Given the description of an element on the screen output the (x, y) to click on. 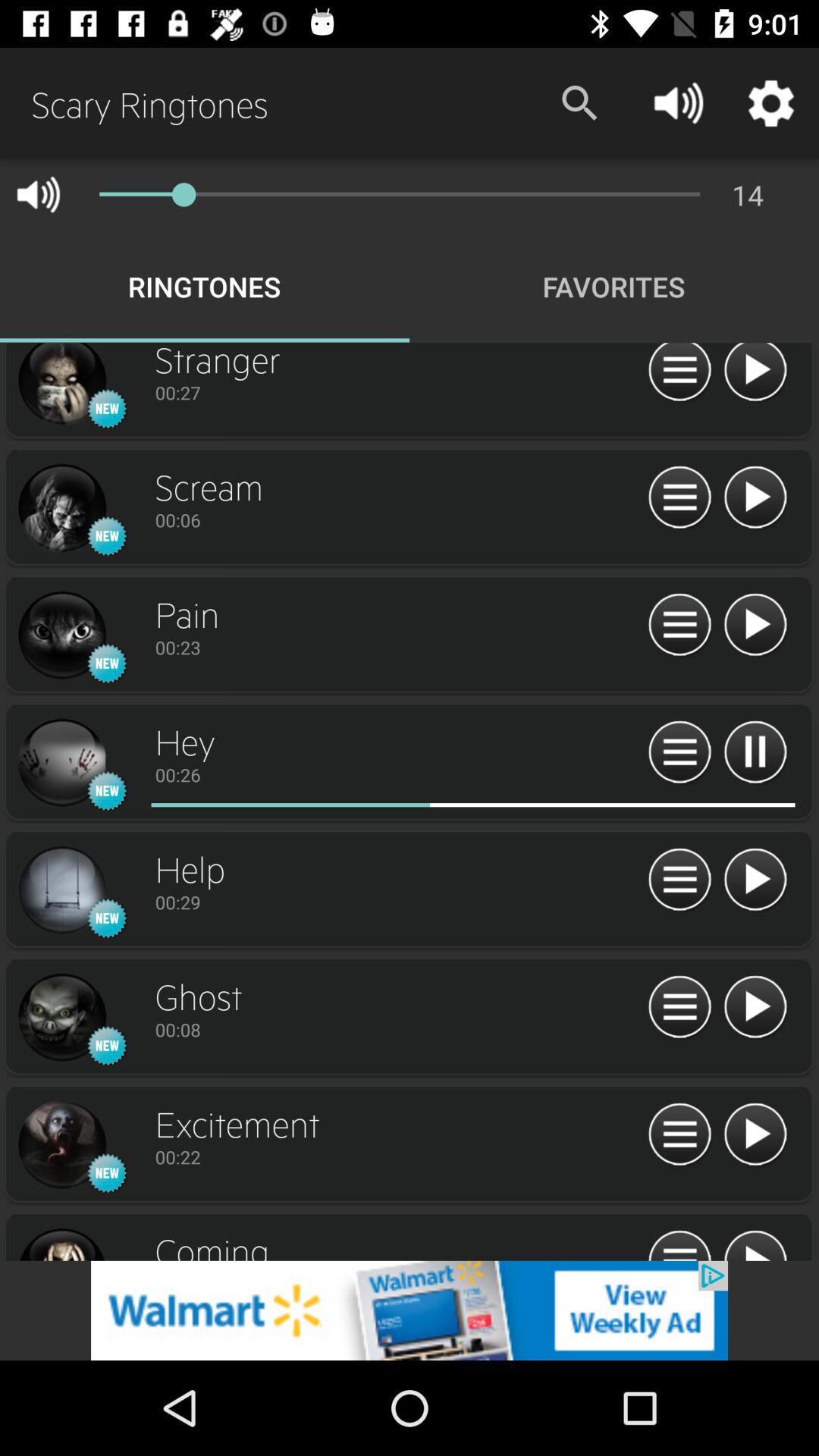
select ringtone (61, 763)
